Given the description of an element on the screen output the (x, y) to click on. 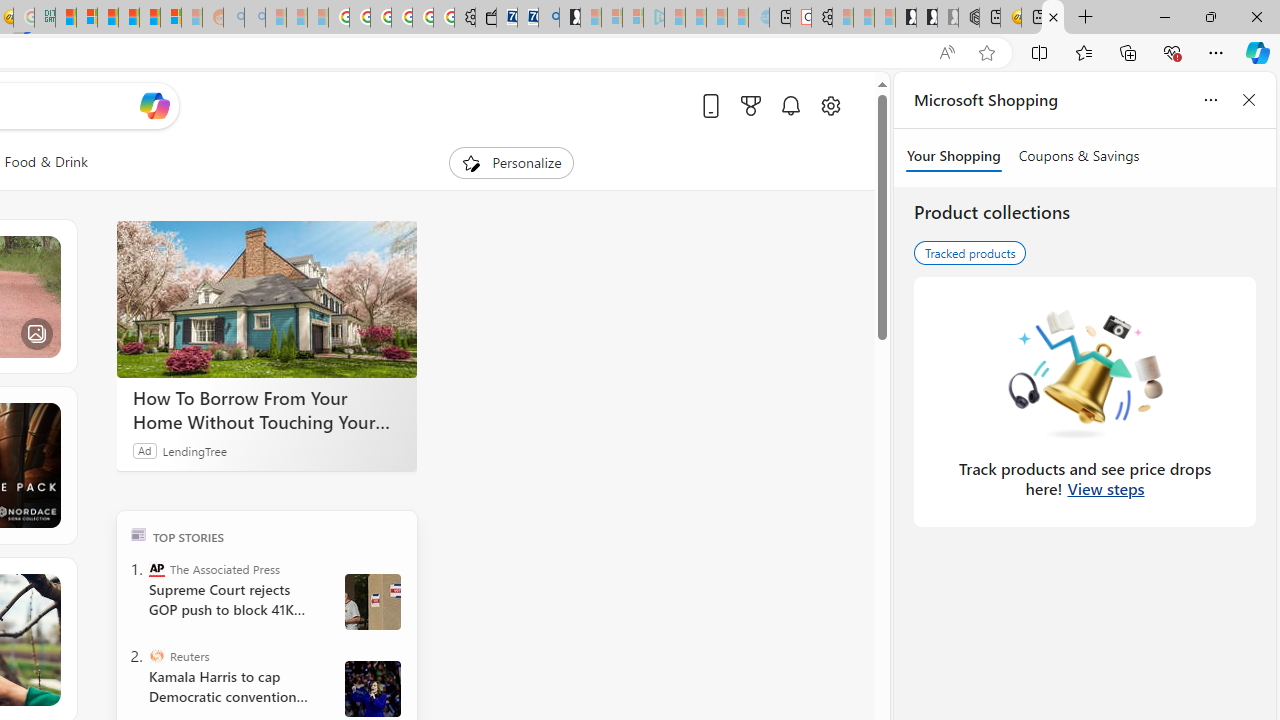
Food & Drink (45, 162)
Expert Portfolios (129, 17)
Home | Sky Blue Bikes - Sky Blue Bikes - Sleeping (758, 17)
The Associated Press (156, 568)
